Given the description of an element on the screen output the (x, y) to click on. 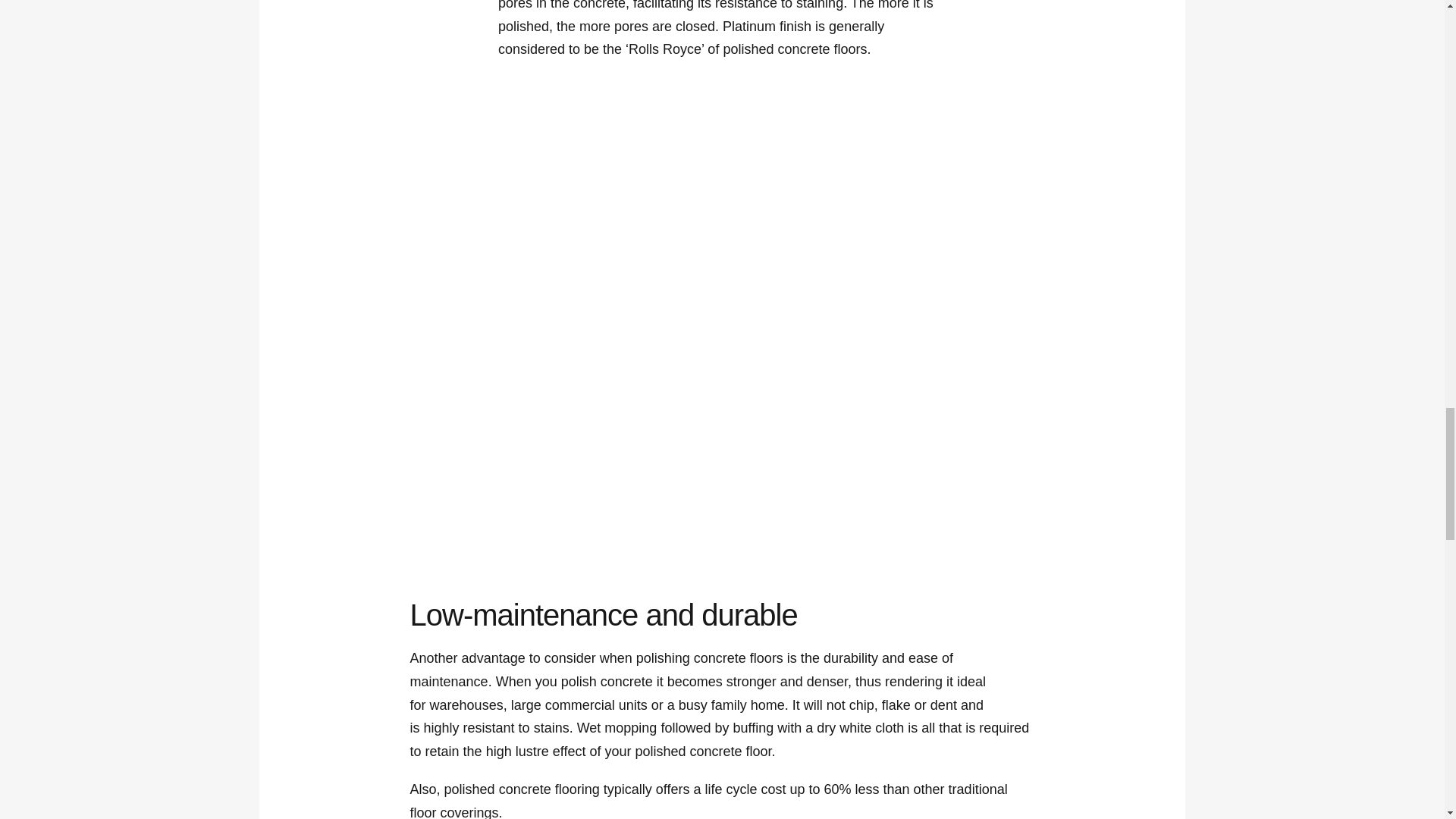
Grinding warehouse concrete floors (885, 420)
GOLD (641, 221)
PLATINUM (964, 221)
SILVER (803, 221)
Bronze (478, 221)
